Given the description of an element on the screen output the (x, y) to click on. 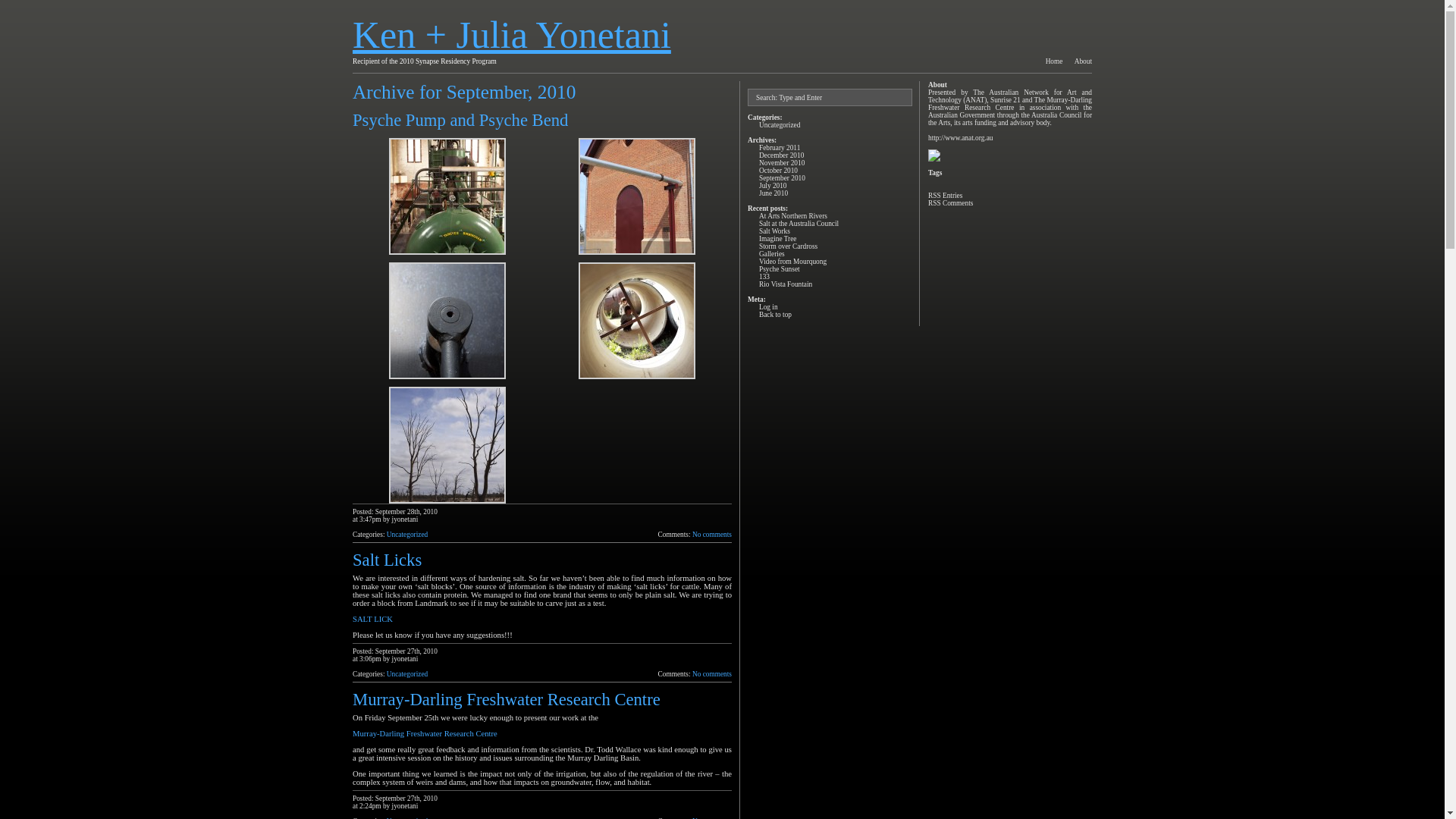
SALT LICK Element type: text (372, 619)
Murray-Darling Freshwater Research Centre Element type: text (424, 733)
Home Element type: text (1054, 61)
Psyche Sunset Element type: text (779, 269)
Storm over Cardross Element type: text (788, 246)
June 2010 Element type: text (773, 193)
Galleries Element type: text (771, 253)
133 Element type: text (764, 276)
Log in Element type: text (768, 306)
Imagine Tree Element type: text (777, 238)
Psyche Pump and Psyche Bend Element type: text (459, 119)
No comments Element type: text (711, 534)
Back to top Element type: text (775, 314)
http://www.anat.org.au Element type: text (960, 137)
No comments Element type: text (711, 673)
Uncategorized Element type: text (406, 673)
December 2010 Element type: text (781, 155)
Video from Mourquong Element type: text (792, 261)
Ken + Julia Yonetani Element type: text (511, 34)
July 2010 Element type: text (773, 185)
At Arts Northern Rivers Element type: text (793, 215)
Murray-Darling Freshwater Research Centre Element type: text (506, 699)
Rio Vista Fountain Element type: text (785, 284)
Salt Works Element type: text (774, 231)
September 2010 Element type: text (782, 178)
RSS Entries Element type: text (945, 195)
Uncategorized Element type: text (406, 534)
About Element type: text (1083, 61)
November 2010 Element type: text (781, 162)
Salt Licks Element type: text (386, 559)
Search Element type: text (17, 7)
October 2010 Element type: text (778, 170)
Uncategorized Element type: text (779, 124)
RSS Comments Element type: text (950, 203)
February 2011 Element type: text (779, 147)
Salt at the Australia Council Element type: text (798, 223)
